Given the description of an element on the screen output the (x, y) to click on. 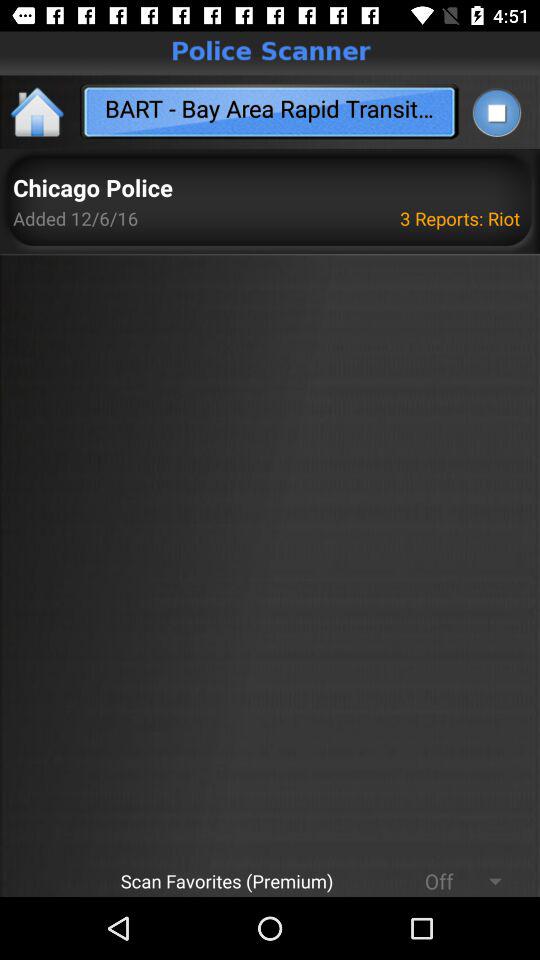
choose the item next to scan favorites (premium) (429, 880)
